Given the description of an element on the screen output the (x, y) to click on. 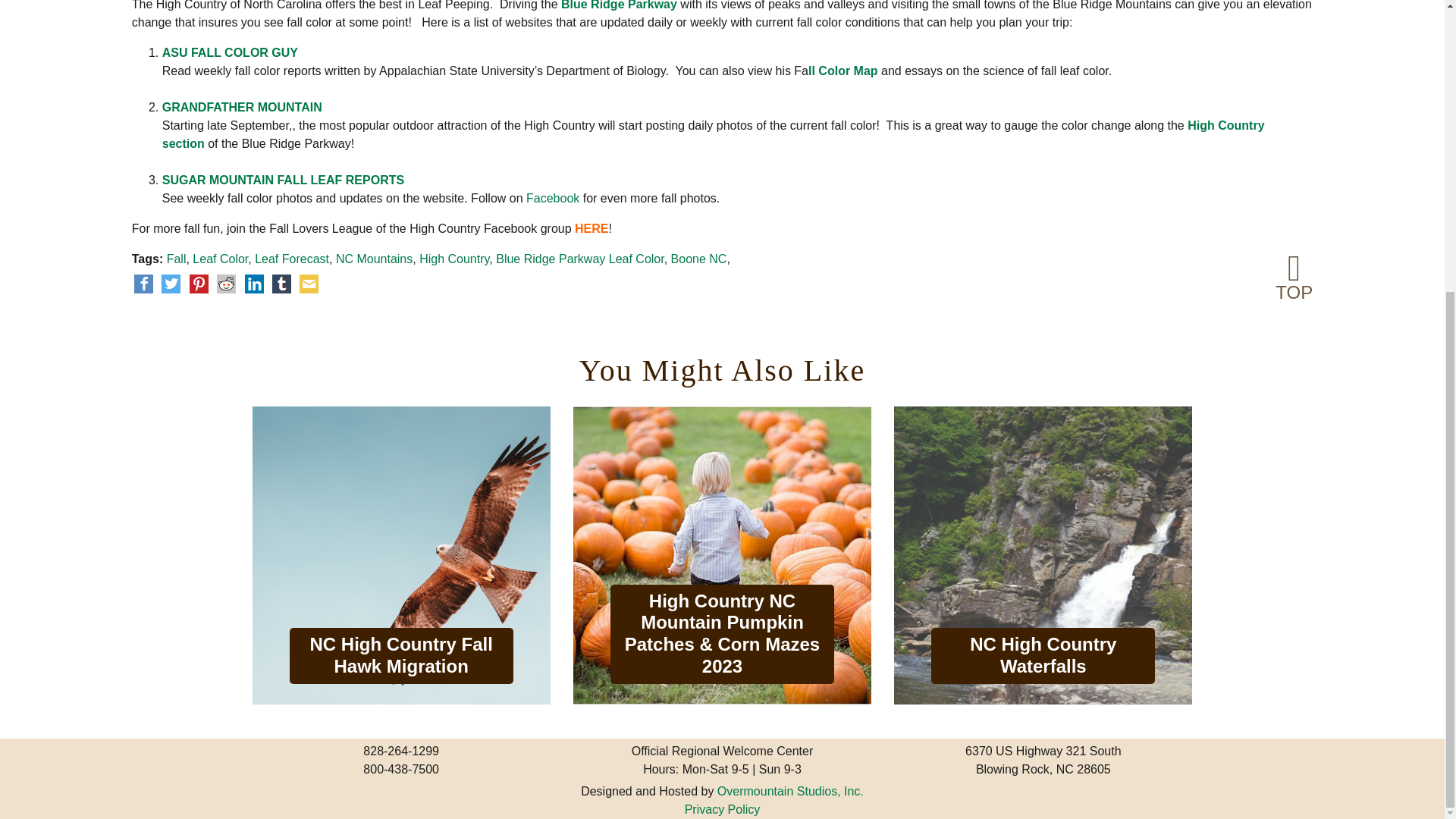
GRANDFATHER MOUNTAIN (241, 106)
Leaf Forecast (291, 258)
Fall (176, 258)
ll Color Map (842, 70)
NC Mountains (374, 258)
HERE (591, 228)
Top NC High Country Waterfalls (1042, 555)
Blue Ridge Parkway (618, 5)
Leaf Color (219, 258)
NC High Country Pumpkin Patches and Corn Mazes (721, 555)
Facebook (552, 197)
SUGAR MOUNTAIN FALL LEAF REPORTS (282, 179)
ASU FALL COLOR GUY (229, 51)
High Country section (713, 133)
